Given the description of an element on the screen output the (x, y) to click on. 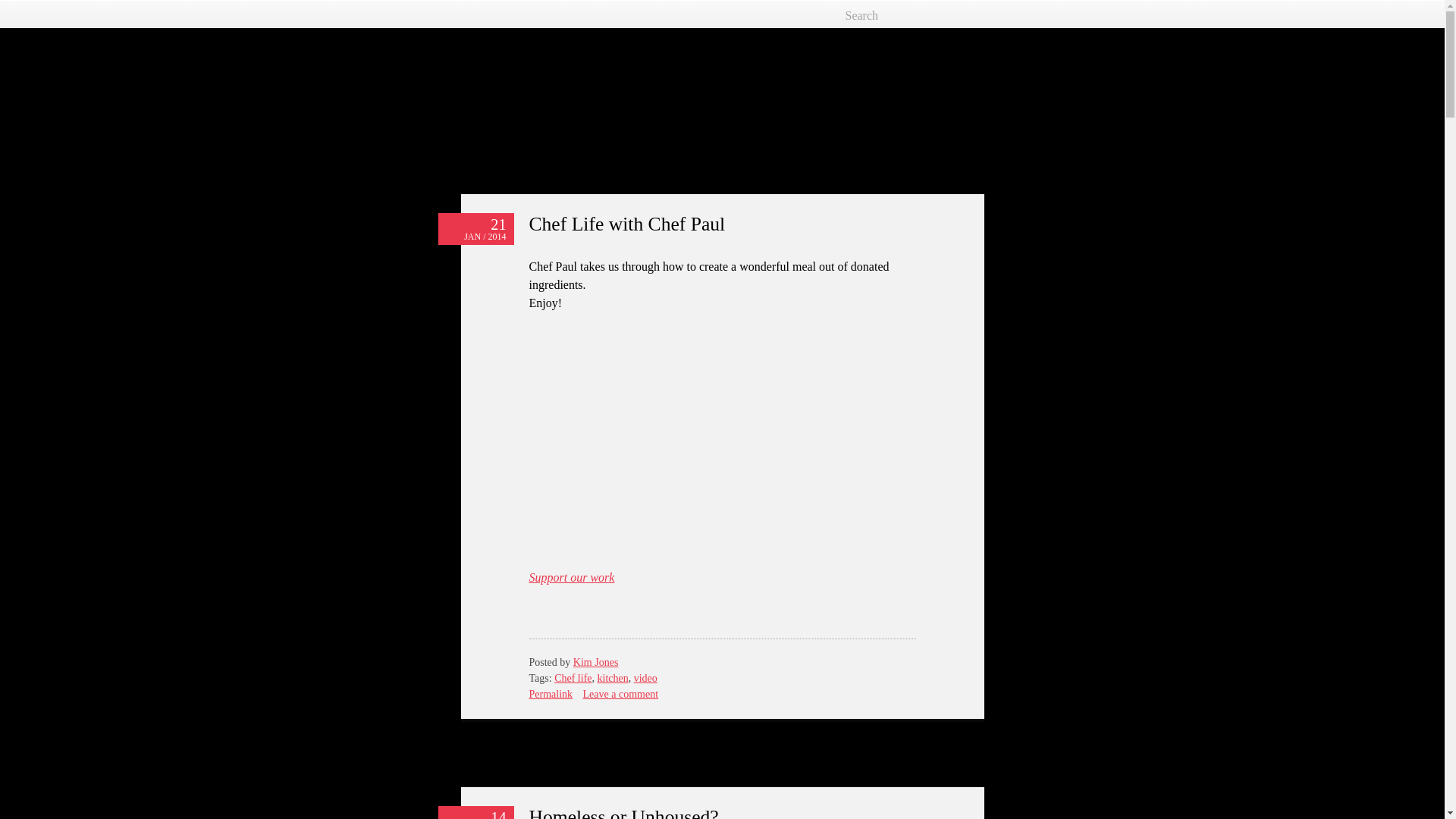
kitchen (612, 677)
Inside OSL (528, 84)
Chef Life with Chef Paul (627, 223)
Leave a comment (621, 694)
View all posts by Kim Jones (595, 662)
Permalink to Homeless or Unhoused? (475, 812)
Chef Life - A meal with Chef Paul (722, 438)
Inside OSL (528, 84)
Search (903, 15)
video (645, 677)
Support our work (571, 576)
Permalink (551, 694)
Chef life (572, 677)
Homeless or Unhoused? (624, 812)
Permalink to Chef Life with Chef Paul (475, 228)
